Given the description of an element on the screen output the (x, y) to click on. 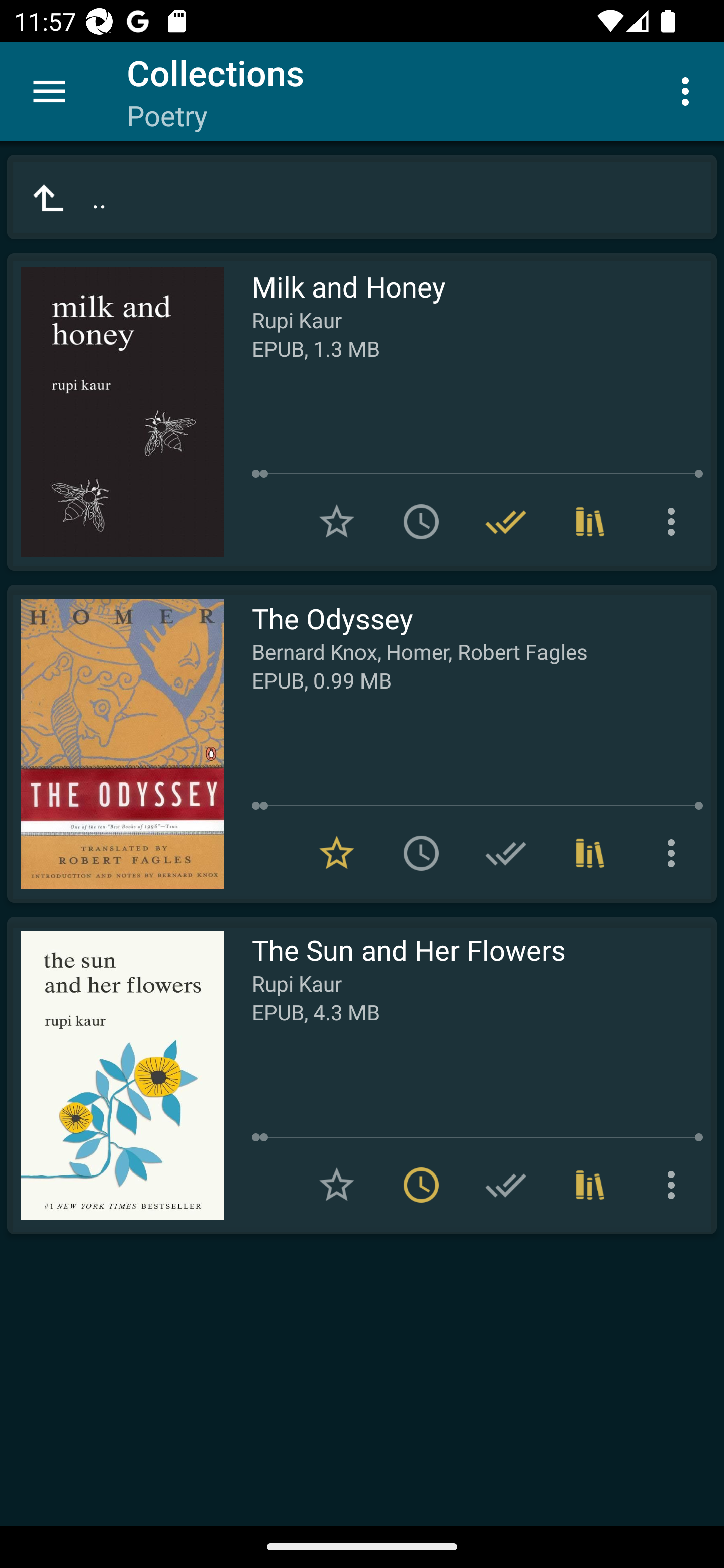
Menu (49, 91)
More options (688, 90)
.. (361, 197)
Read Milk and Honey (115, 412)
Add to Favorites (336, 521)
Add to To read (421, 521)
Remove from Have read (505, 521)
Collections (1) (590, 521)
More options (674, 521)
Read The Odyssey (115, 743)
Remove from Favorites (336, 852)
Add to To read (421, 852)
Add to Have read (505, 852)
Collections (1) (590, 852)
More options (674, 852)
Read The Sun and Her Flowers (115, 1075)
Add to Favorites (336, 1185)
Remove from To read (421, 1185)
Add to Have read (505, 1185)
Collections (1) (590, 1185)
More options (674, 1185)
